Given the description of an element on the screen output the (x, y) to click on. 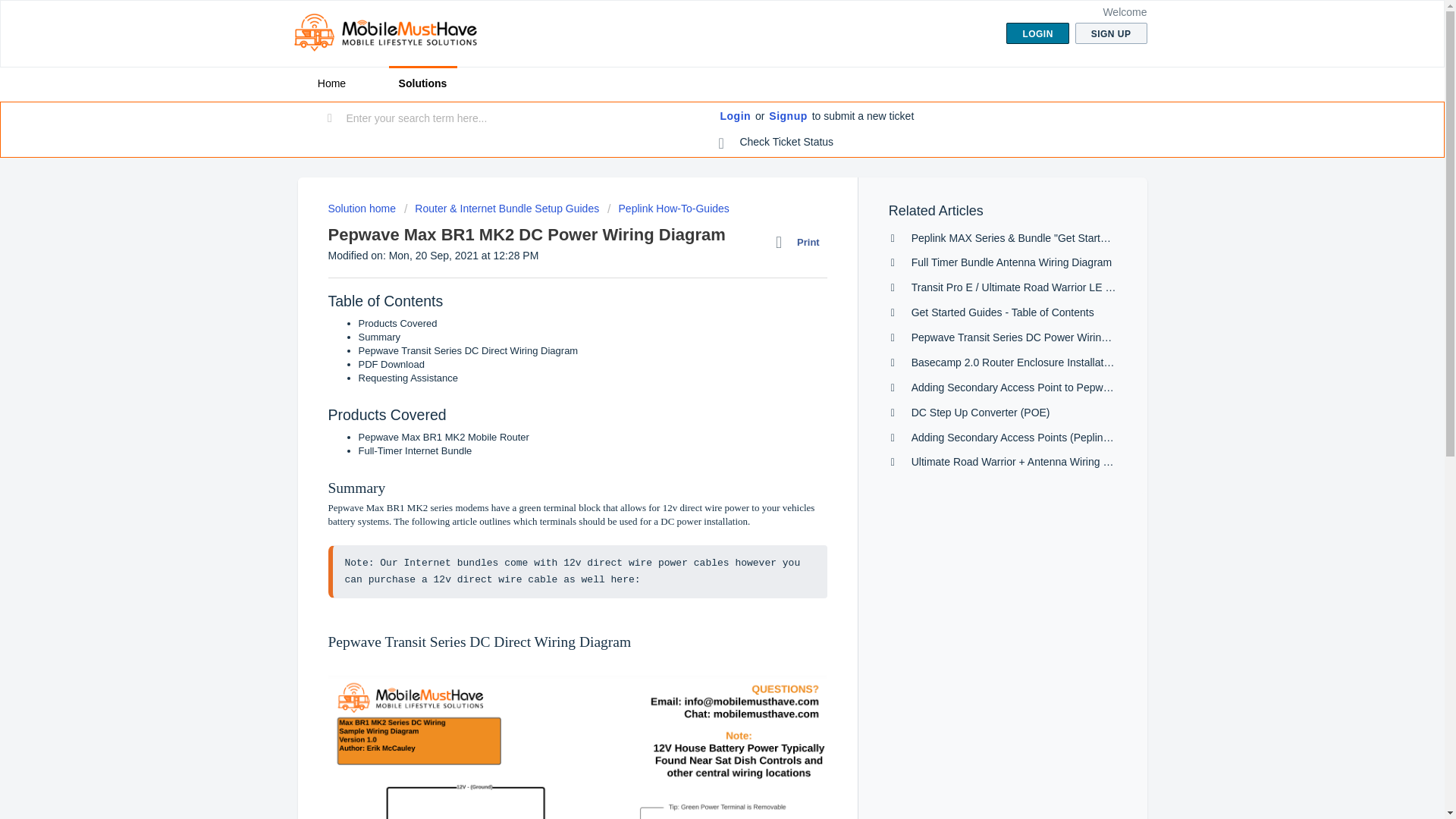
Login (735, 116)
Check Ticket Status (776, 142)
Get Started Guides - Table of Contents (1002, 312)
Basecamp 2.0 Router Enclosure Installation Instructions (1042, 362)
Home (331, 83)
Print this Article (801, 242)
Solutions (422, 83)
Signup (787, 116)
Check ticket status (776, 142)
Peplink How-To-Guides (668, 208)
12v direct wire cable as well here (533, 579)
Print (801, 242)
Summary (379, 337)
Products Covered (397, 323)
Pepwave Transit Series DC Power Wiring Diagrams (1033, 337)
